Given the description of an element on the screen output the (x, y) to click on. 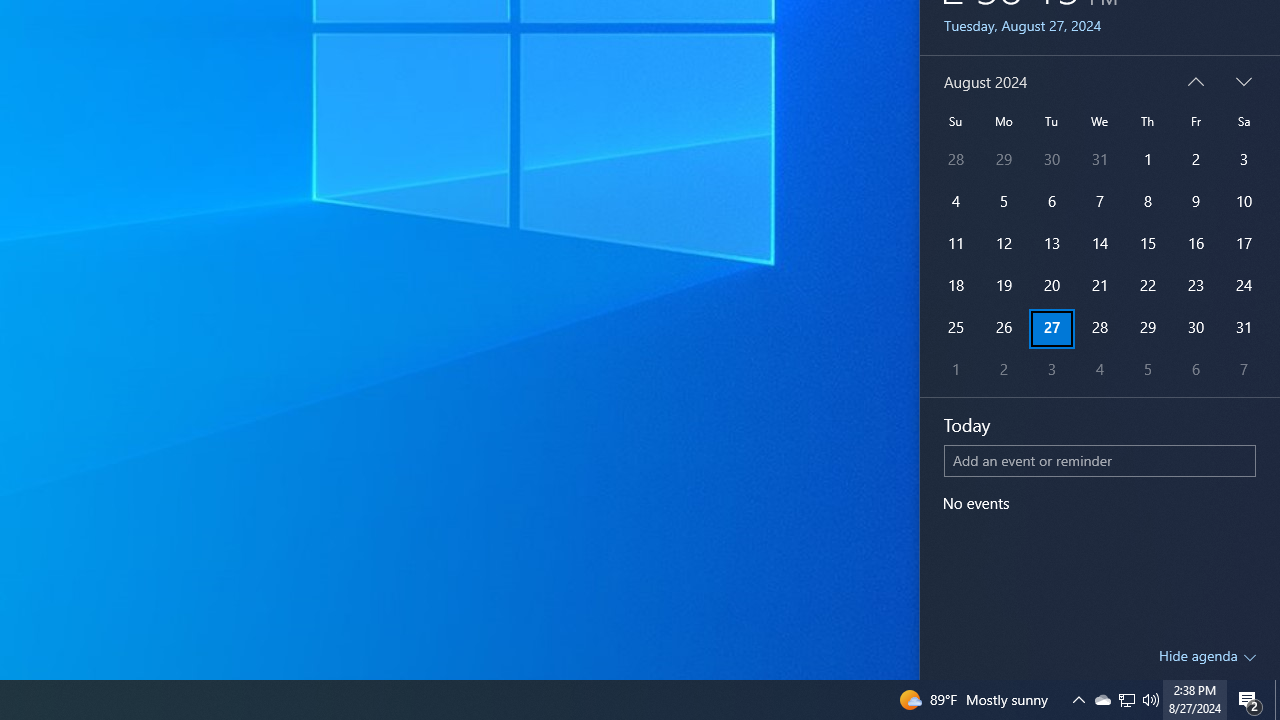
1 (956, 370)
20 (1052, 286)
AutomationID: ClockCalendar (1099, 226)
Hide agenda (1206, 655)
2 (1003, 370)
29 (1148, 328)
28 (1102, 699)
Next (1099, 328)
19 (1243, 82)
15 (1003, 286)
5 (1148, 244)
Q2790: 100% (1148, 370)
18 (1151, 699)
